Given the description of an element on the screen output the (x, y) to click on. 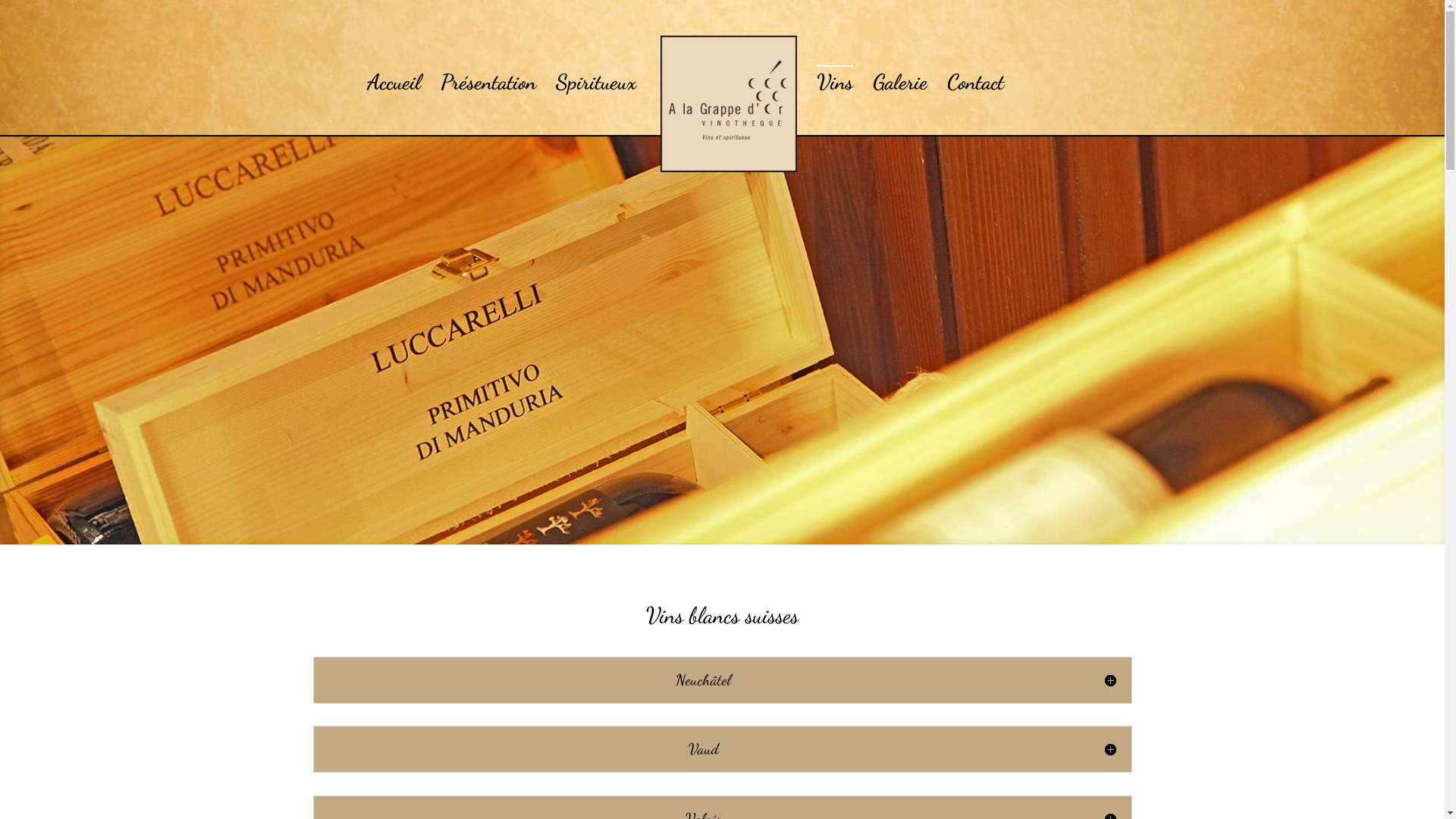
Accueil Element type: text (393, 81)
Galerie Element type: text (899, 81)
Vins Element type: text (834, 81)
Contact Element type: text (975, 81)
Spiritueux Element type: text (595, 81)
